Given the description of an element on the screen output the (x, y) to click on. 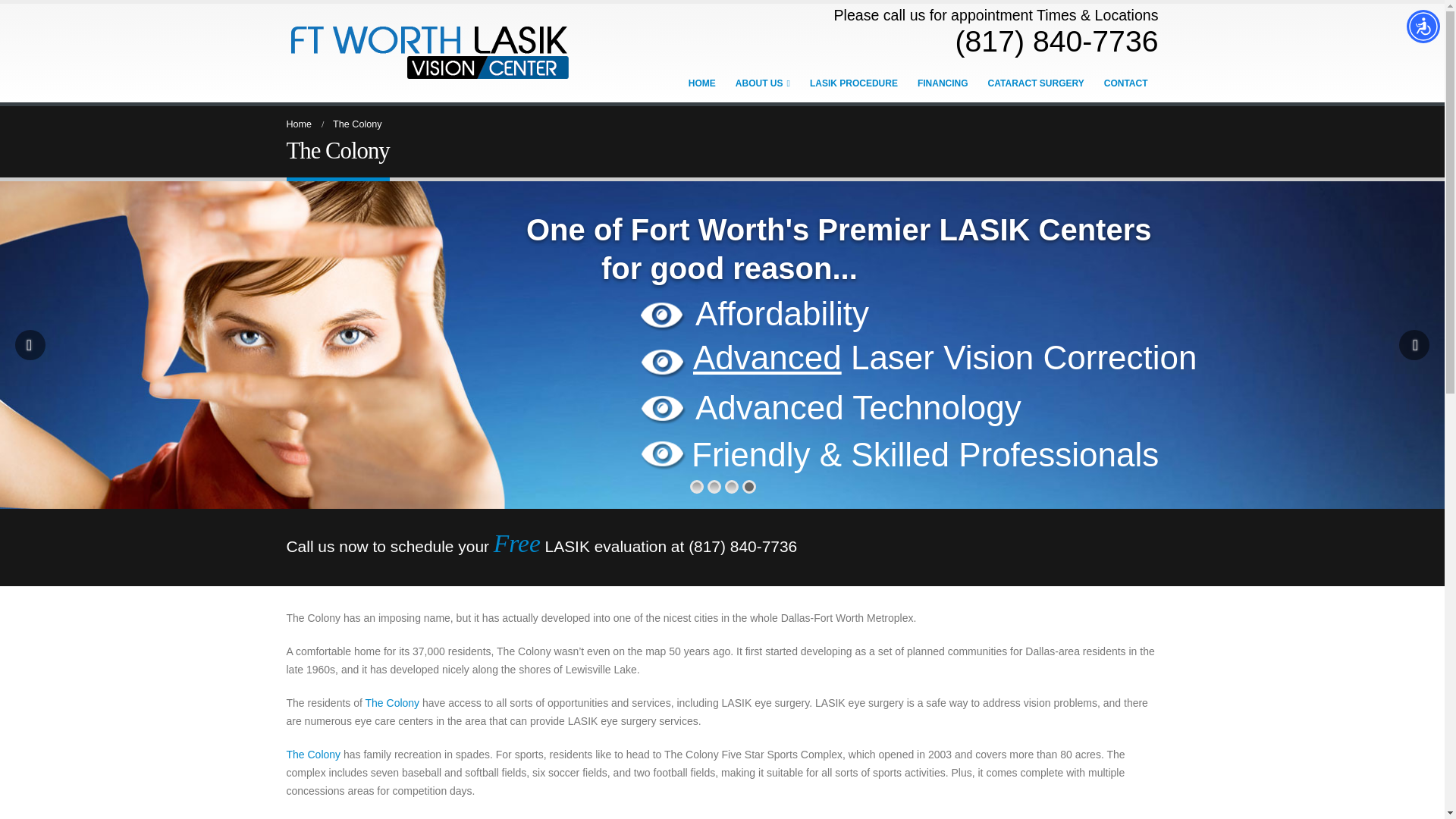
FINANCING (942, 82)
CATARACT SURGERY (1035, 82)
Home (299, 124)
ABOUT US (762, 82)
CONTACT (1125, 82)
The Colony (313, 754)
Accessibility Menu (1422, 26)
The Colony (478, 818)
LASIK PROCEDURE (853, 82)
The Colony (392, 702)
HOME (702, 82)
Lasik Fort Worth - Fort Worth Lasik Eye Surgery (429, 51)
Go to Home Page (299, 124)
